Given the description of an element on the screen output the (x, y) to click on. 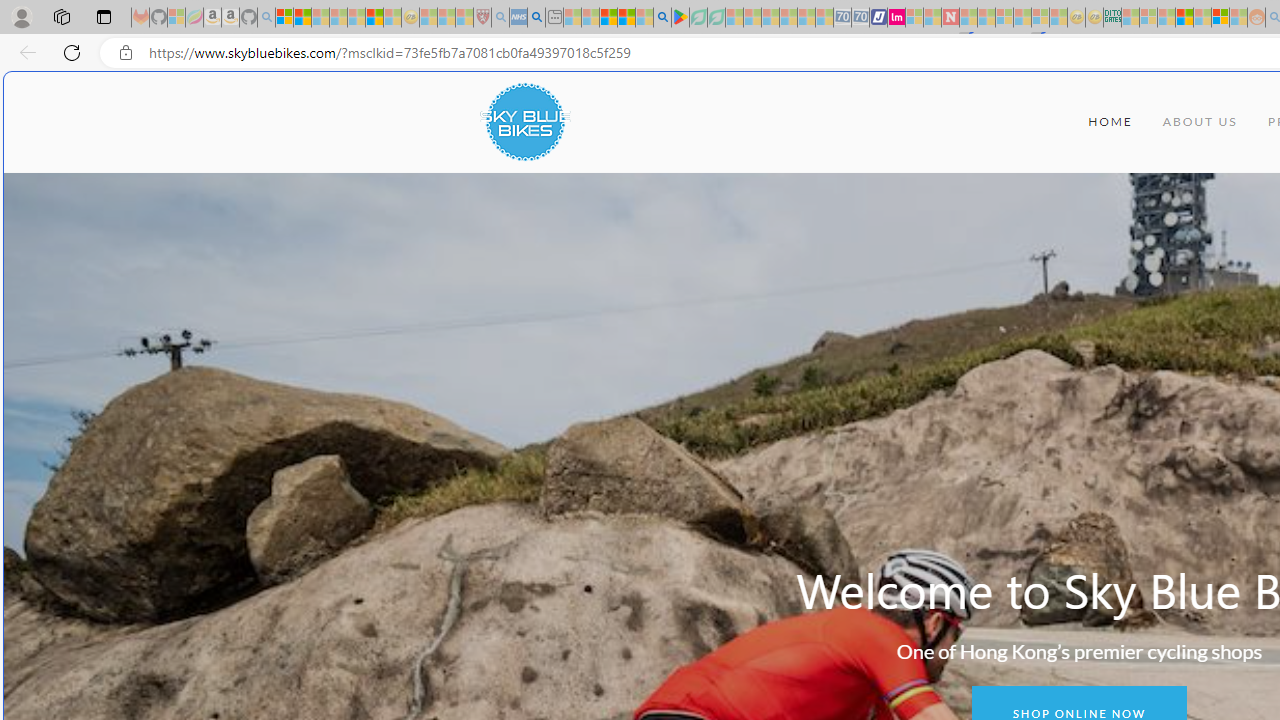
Class: uk-navbar-item uk-logo (524, 122)
